Given the description of an element on the screen output the (x, y) to click on. 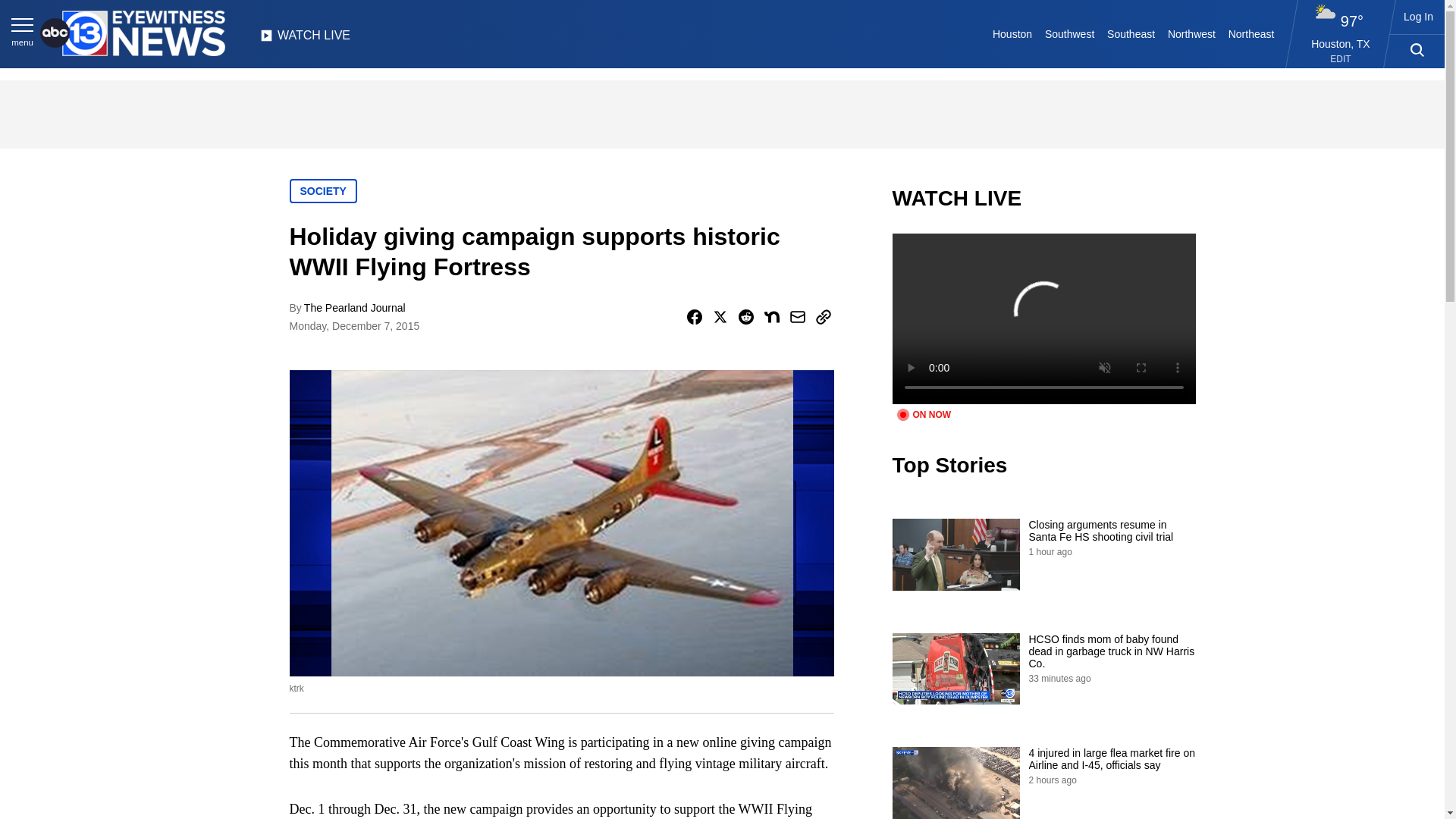
Northeast (1250, 33)
video.title (1043, 318)
Houston (1013, 33)
Southeast (1130, 33)
Houston, TX (1340, 43)
EDIT (1340, 59)
WATCH LIVE (305, 39)
Southwest (1069, 33)
Northwest (1192, 33)
